Given the description of an element on the screen output the (x, y) to click on. 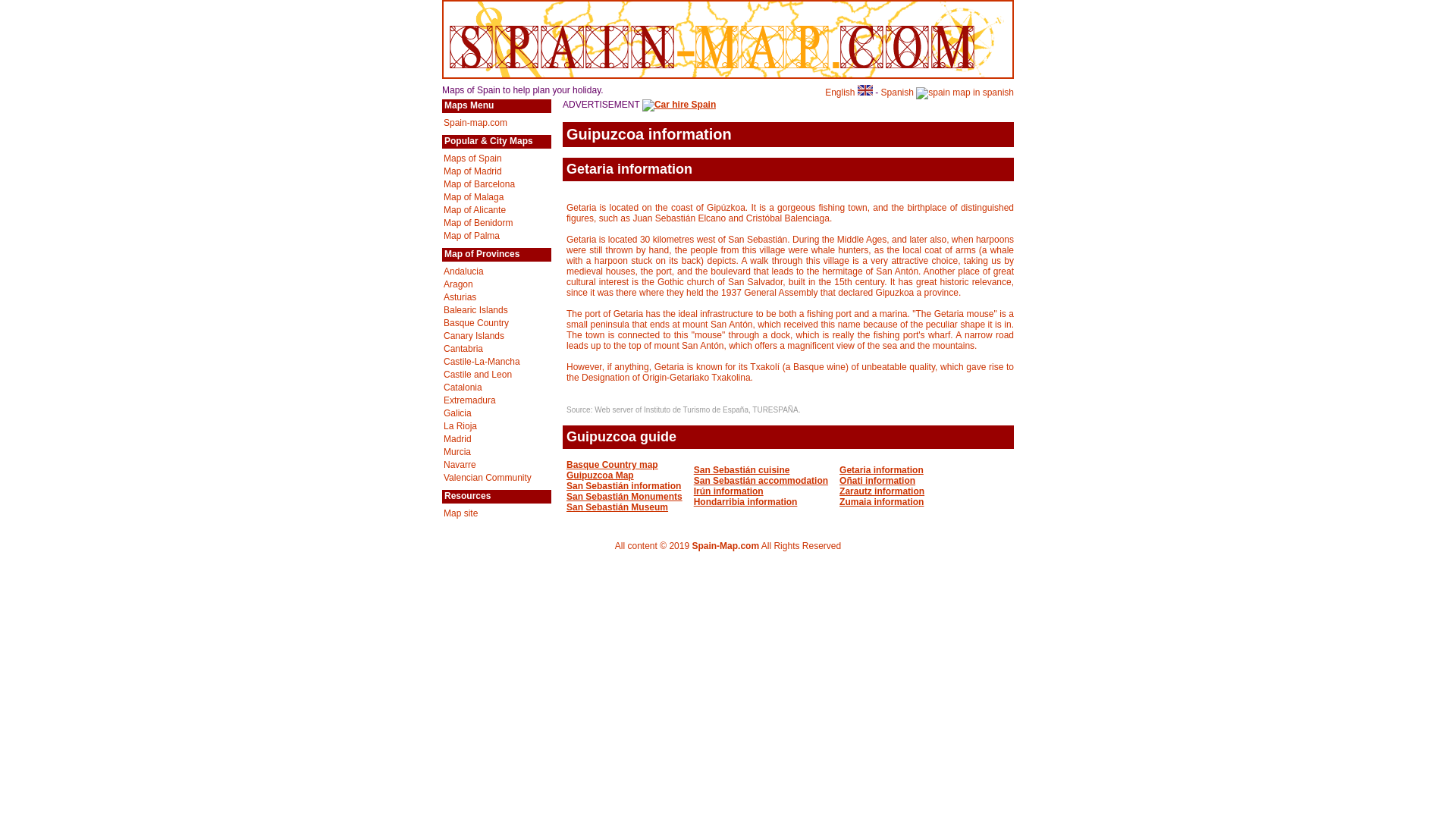
Castile and Leon (478, 374)
Navarre (460, 464)
Madrid (457, 439)
Catalonia (462, 387)
Basque Country map (612, 464)
Map site (460, 512)
Galicia (457, 412)
car hire spain (679, 104)
Hondarribia information (745, 501)
Spain-map.com (475, 122)
English (848, 91)
Map of Malaga (473, 196)
Map of Benidorm (478, 222)
Extremadura (470, 399)
Castile-La-Mancha (481, 361)
